Given the description of an element on the screen output the (x, y) to click on. 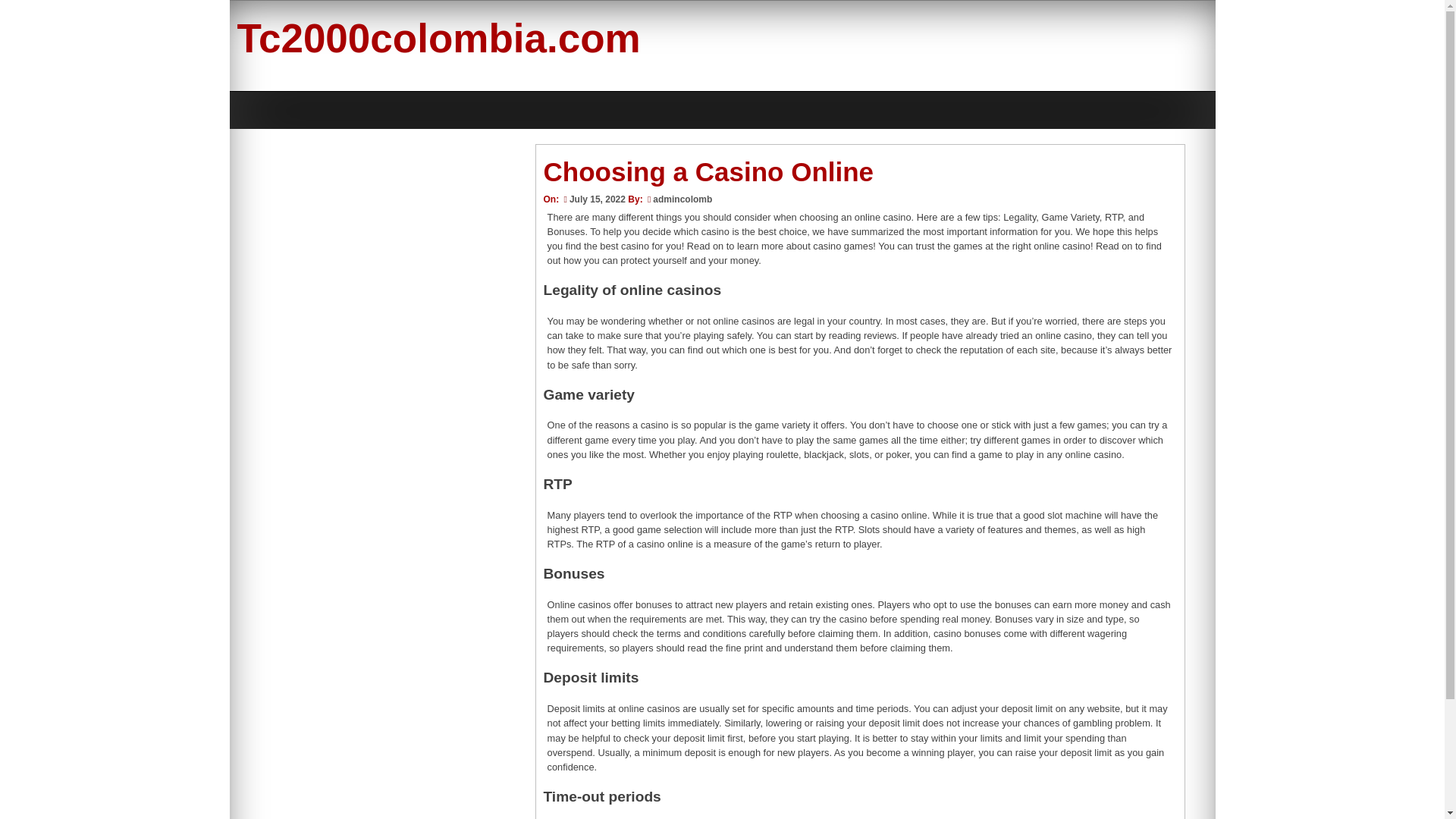
Tc2000colombia.com (437, 37)
admincolomb (681, 199)
July 15, 2022 (592, 199)
